Given the description of an element on the screen output the (x, y) to click on. 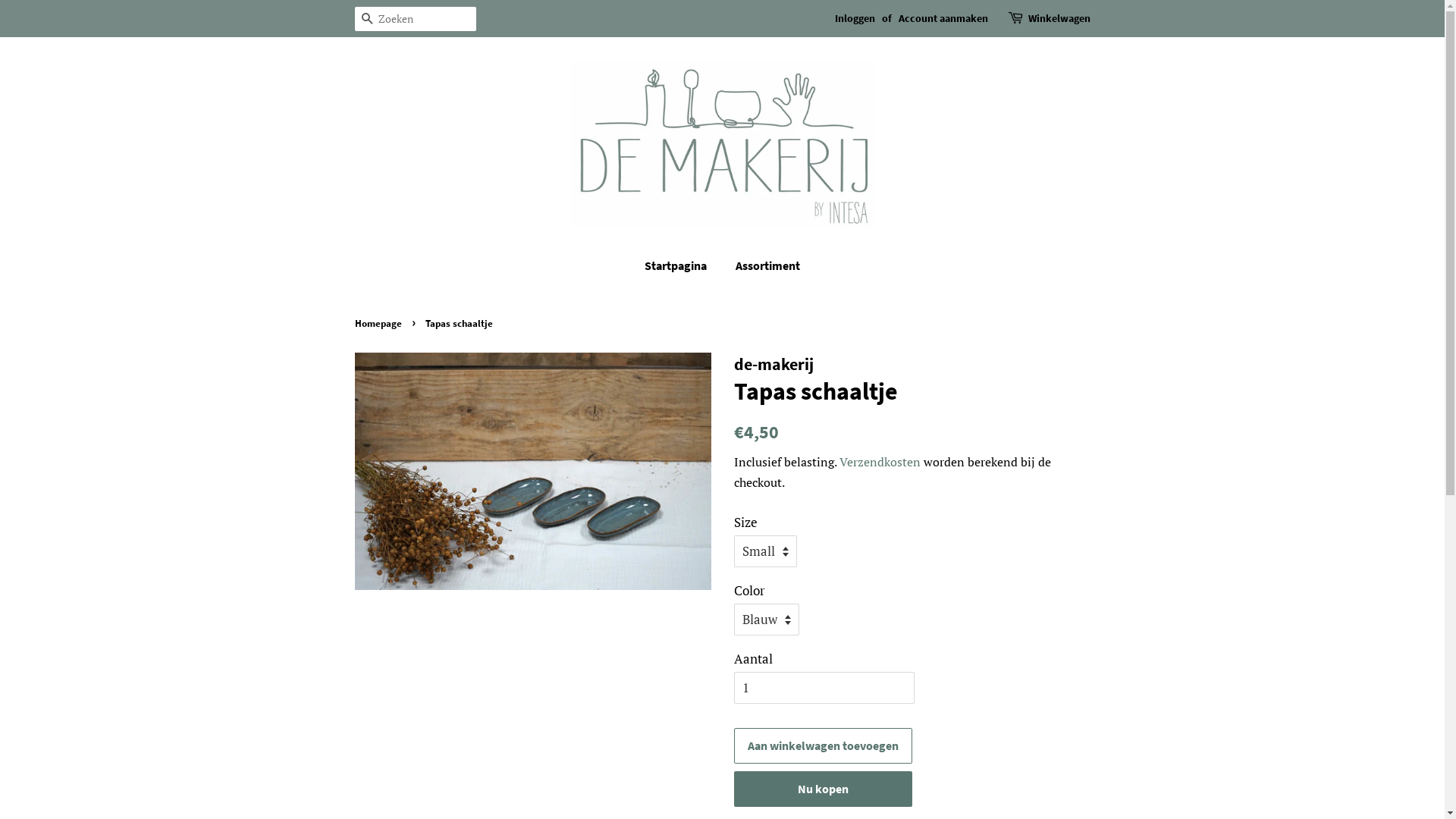
Winkelwagen Element type: text (1059, 18)
Verzendkosten Element type: text (878, 461)
Inloggen Element type: text (854, 18)
Account aanmaken Element type: text (942, 18)
Startpagina Element type: text (682, 265)
Zoeken Element type: text (366, 18)
Assortiment Element type: text (762, 265)
Homepage Element type: text (379, 322)
Nu kopen Element type: text (823, 788)
Aan winkelwagen toevoegen Element type: text (823, 745)
